Given the description of an element on the screen output the (x, y) to click on. 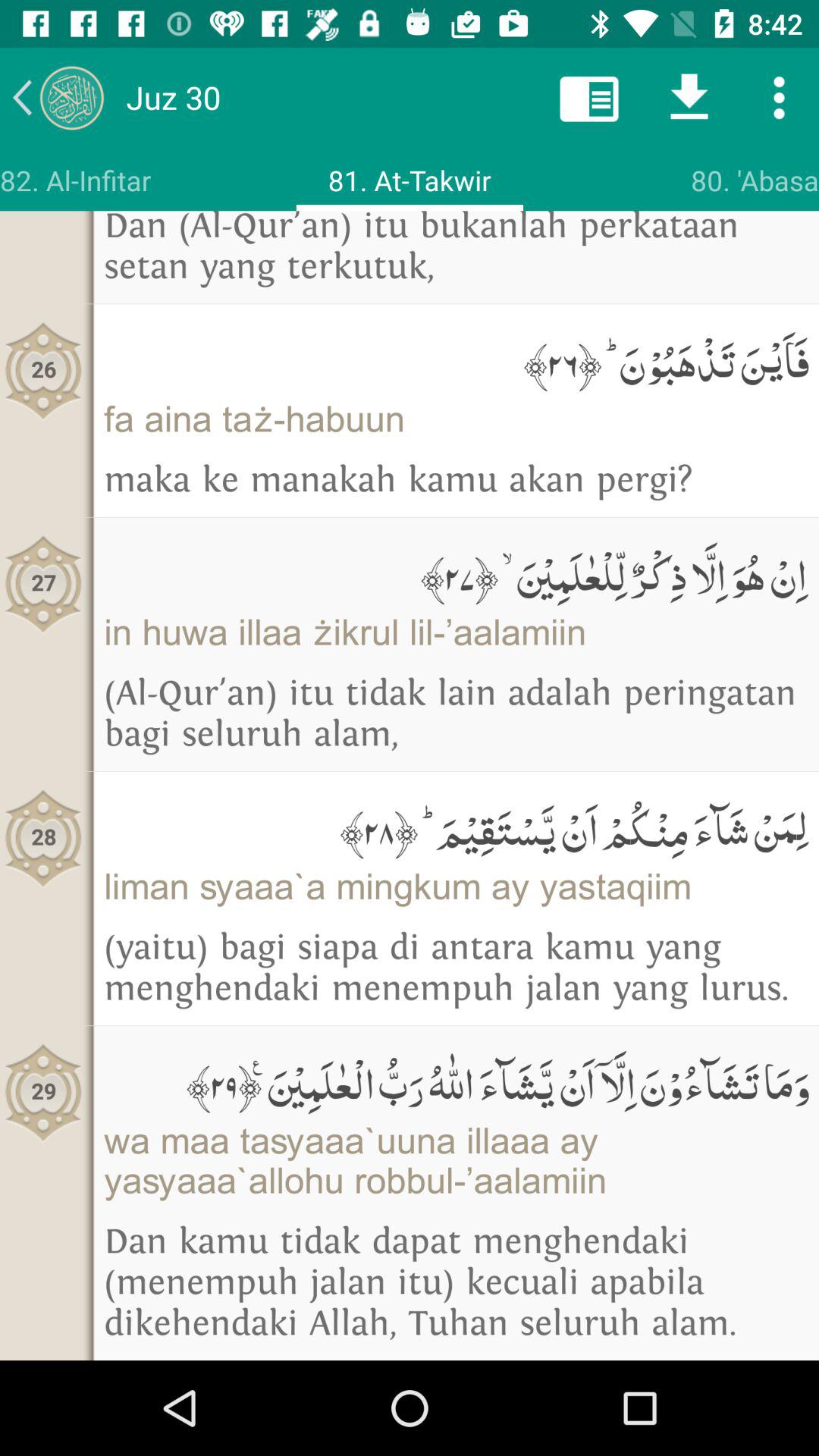
go to previous (58, 97)
